Given the description of an element on the screen output the (x, y) to click on. 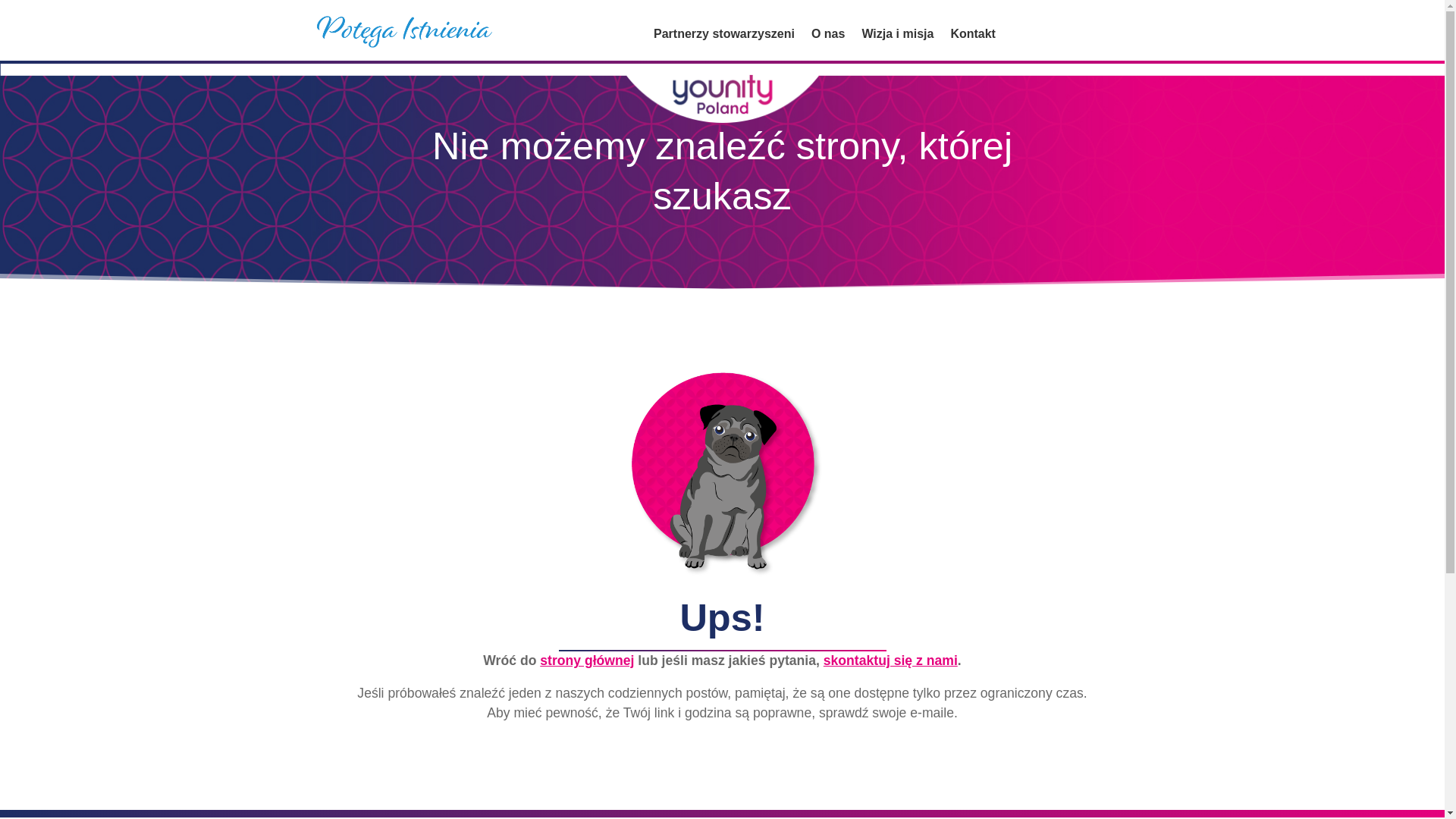
O nas (827, 36)
Standart-Pages-SadPug (721, 469)
Wizja i misja (897, 36)
Kontakt (972, 36)
Partnerzy stowarzyszeni (723, 36)
